Given the description of an element on the screen output the (x, y) to click on. 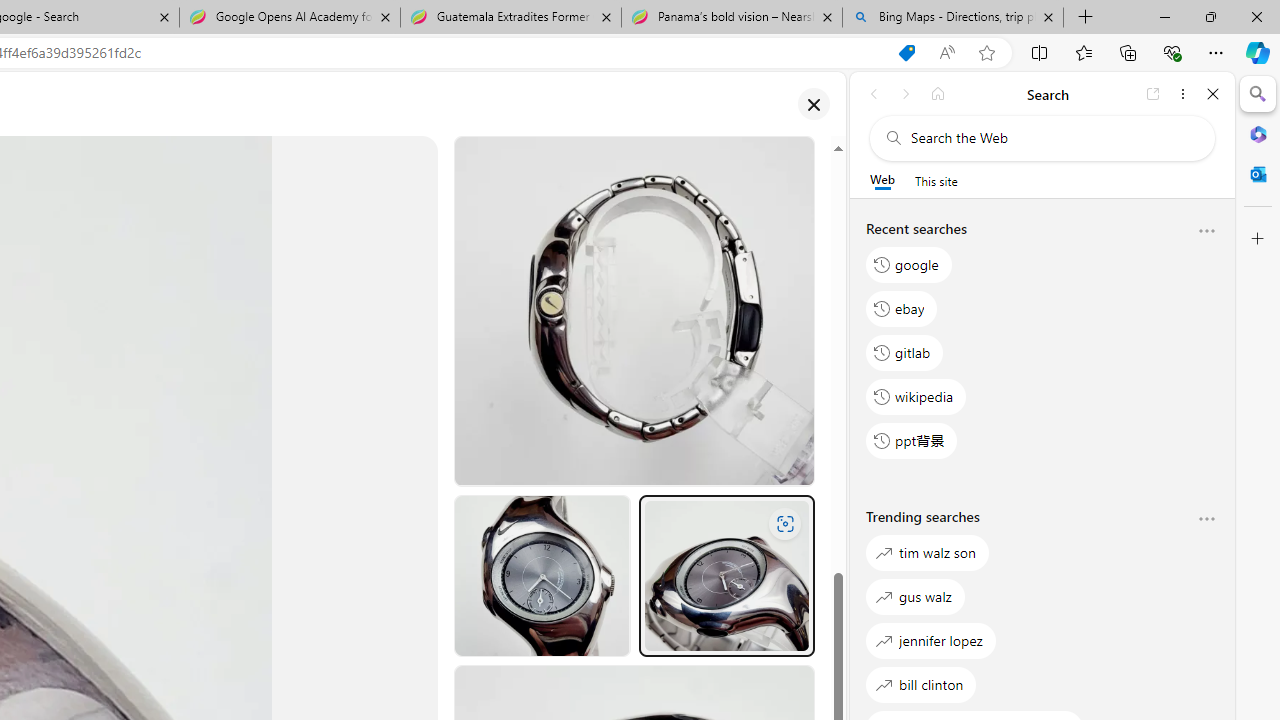
wikipedia (916, 396)
google (909, 264)
gitlab (905, 352)
